Given the description of an element on the screen output the (x, y) to click on. 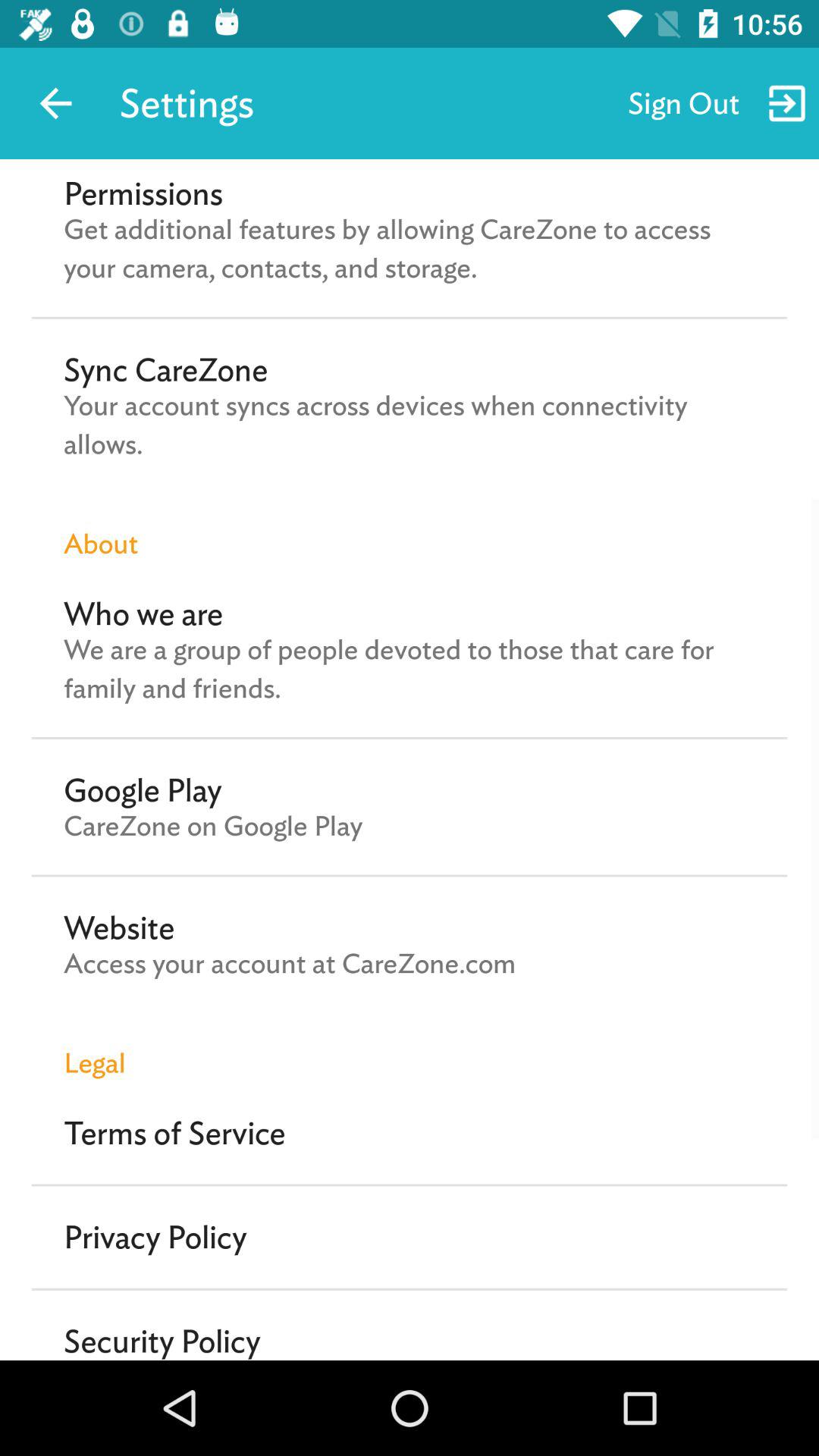
click icon below the legal (174, 1133)
